Given the description of an element on the screen output the (x, y) to click on. 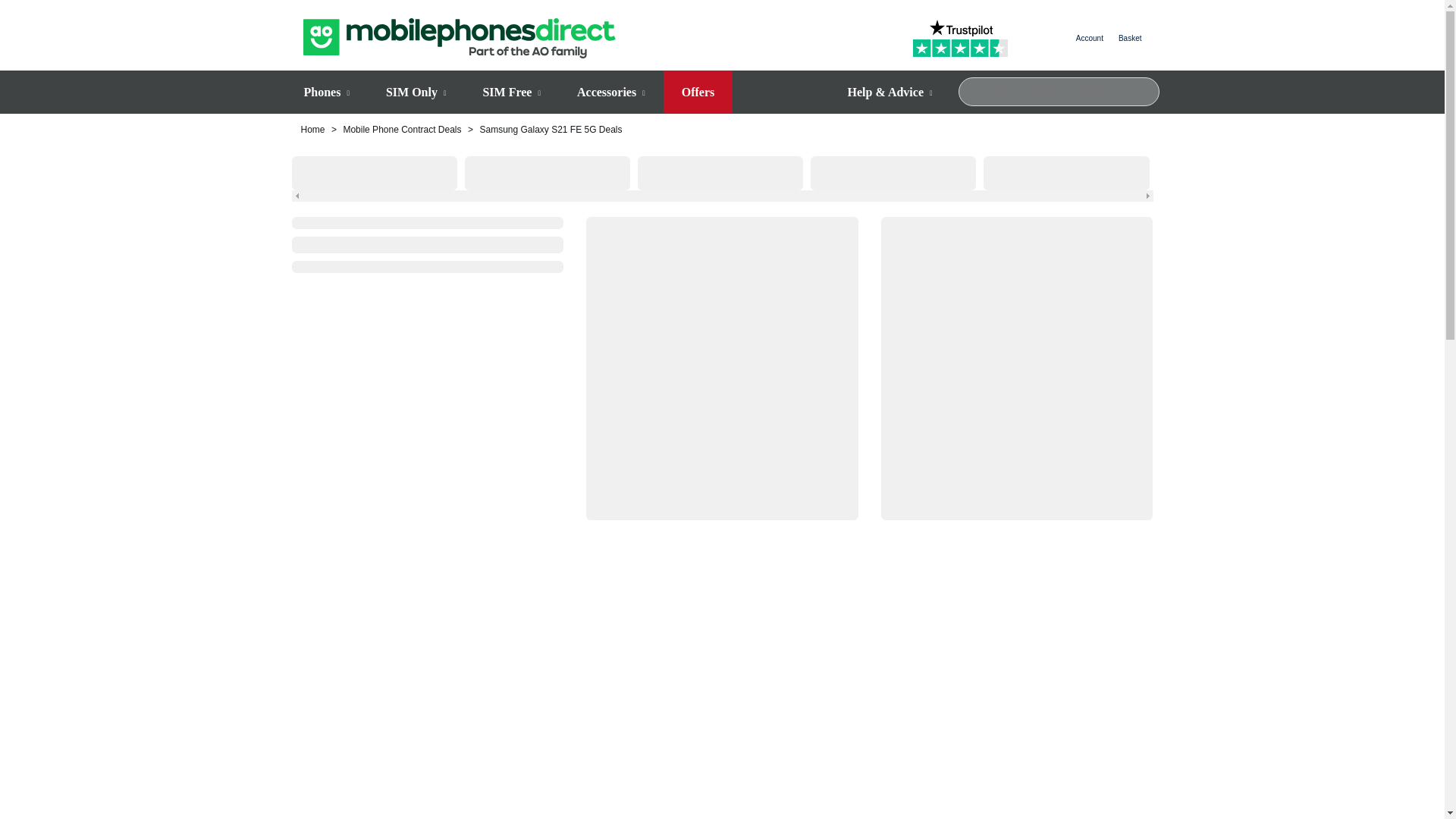
Trustpilot 4 Stars (959, 37)
Phones (325, 92)
Account (1089, 38)
Basket (1129, 38)
SIM Only (416, 92)
Mobile Phones Direct (458, 38)
